Given the description of an element on the screen output the (x, y) to click on. 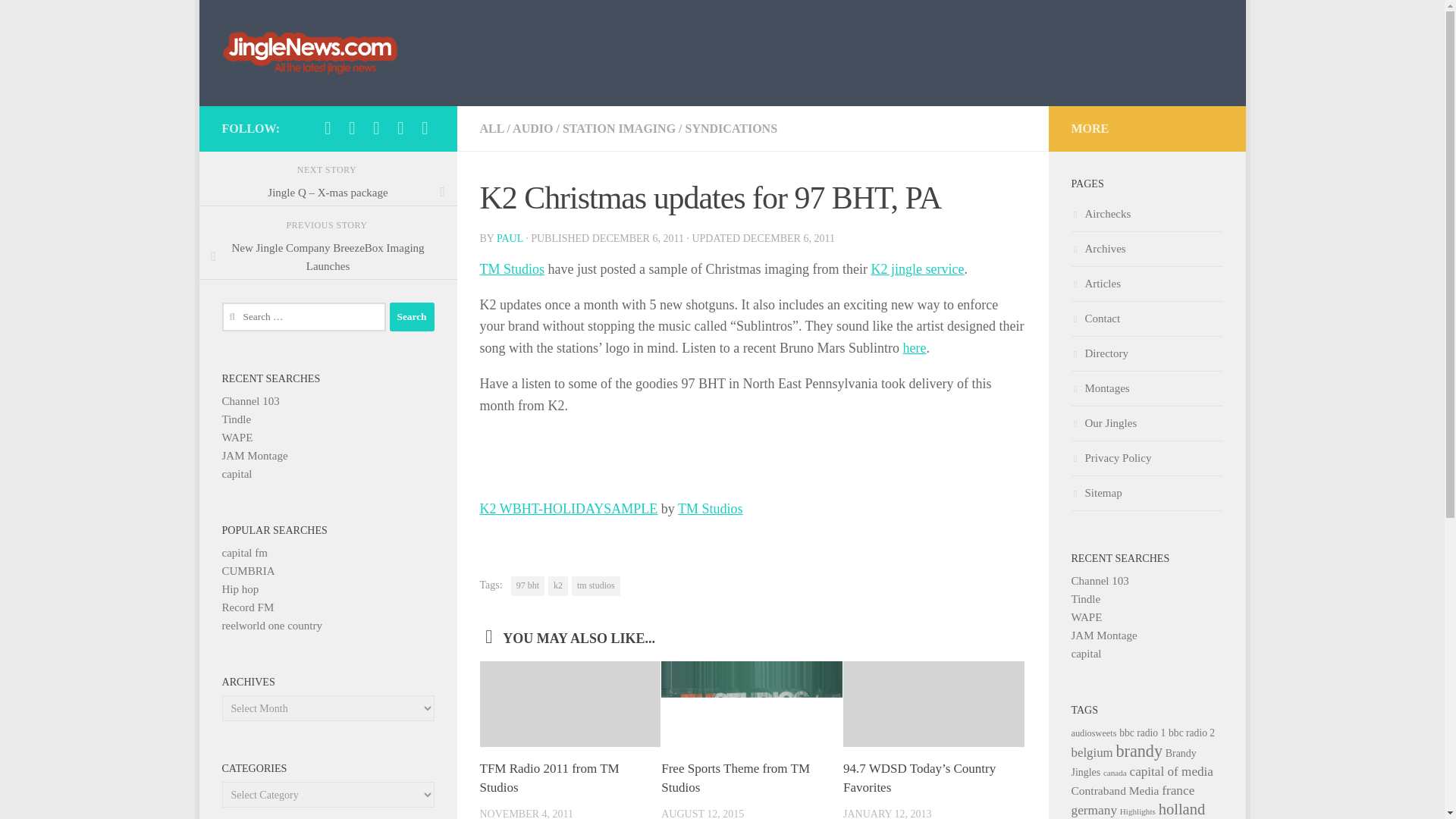
TM Studios (710, 508)
STATION IMAGING (618, 128)
TFM Radio 2011 from TM Studios (548, 778)
Follow us on Soundcloud (375, 127)
Skip to content (258, 20)
Channel 103 (250, 400)
Search (411, 316)
k2 (557, 586)
Posts by Paul (509, 238)
New Jingle Company BreezeBox Imaging Launches (327, 257)
Search (411, 316)
Follow us on Facebook (327, 127)
Follow us on Youtube-square (400, 127)
SYNDICATIONS (731, 128)
here (914, 347)
